Given the description of an element on the screen output the (x, y) to click on. 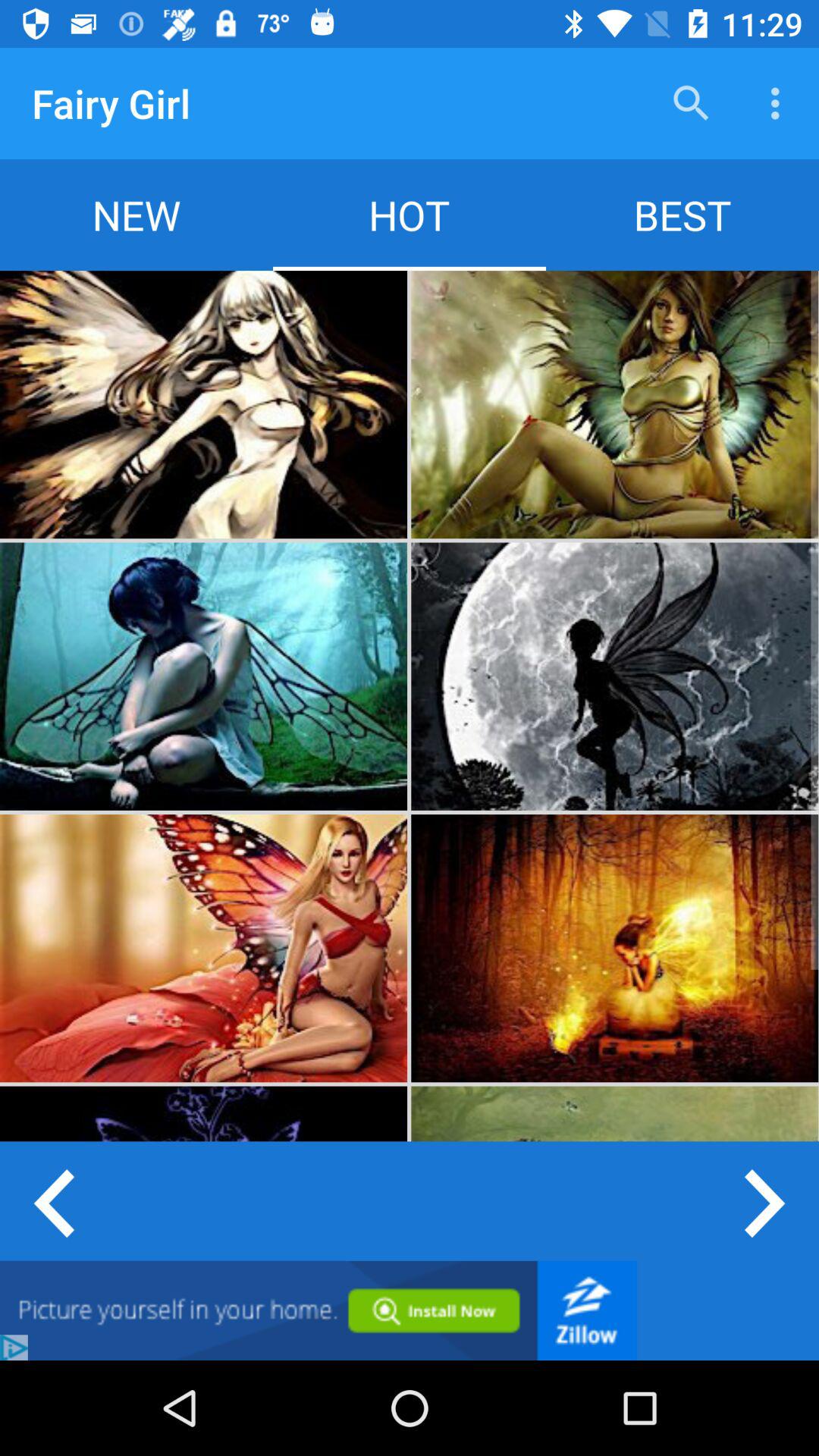
next page (766, 1201)
